Given the description of an element on the screen output the (x, y) to click on. 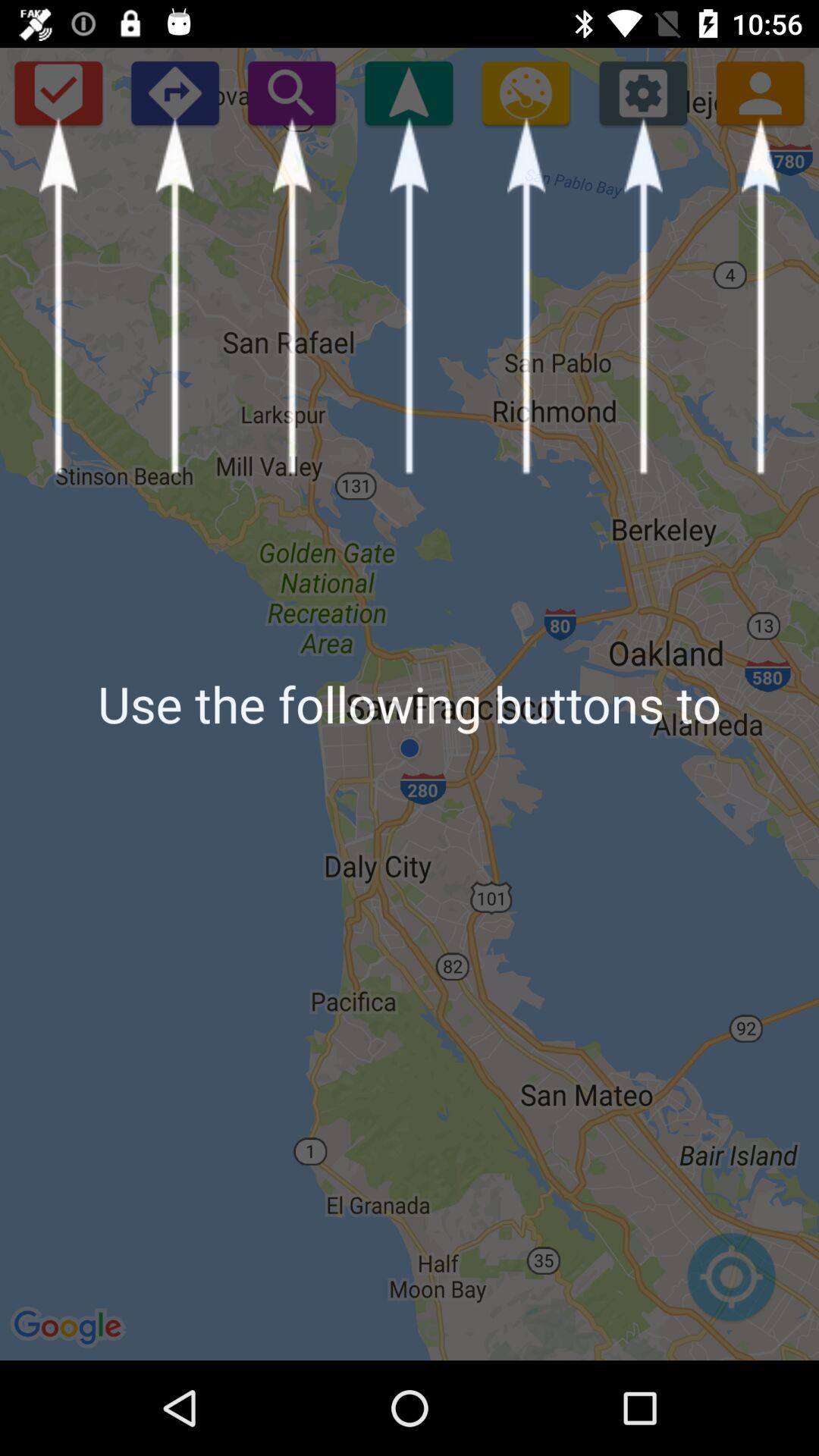
open settings (642, 92)
